Given the description of an element on the screen output the (x, y) to click on. 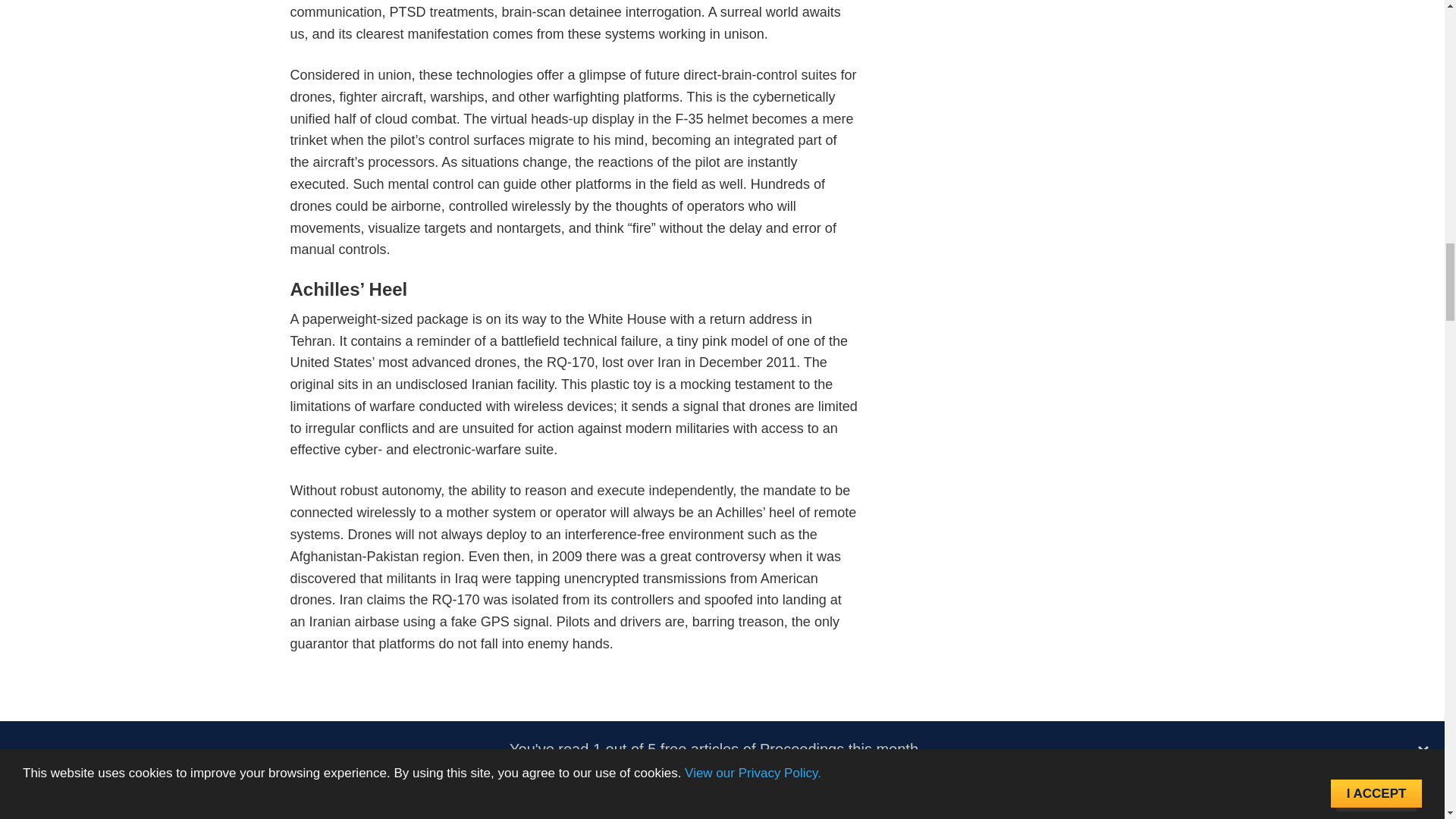
3rd party ad content (574, 709)
